Given the description of an element on the screen output the (x, y) to click on. 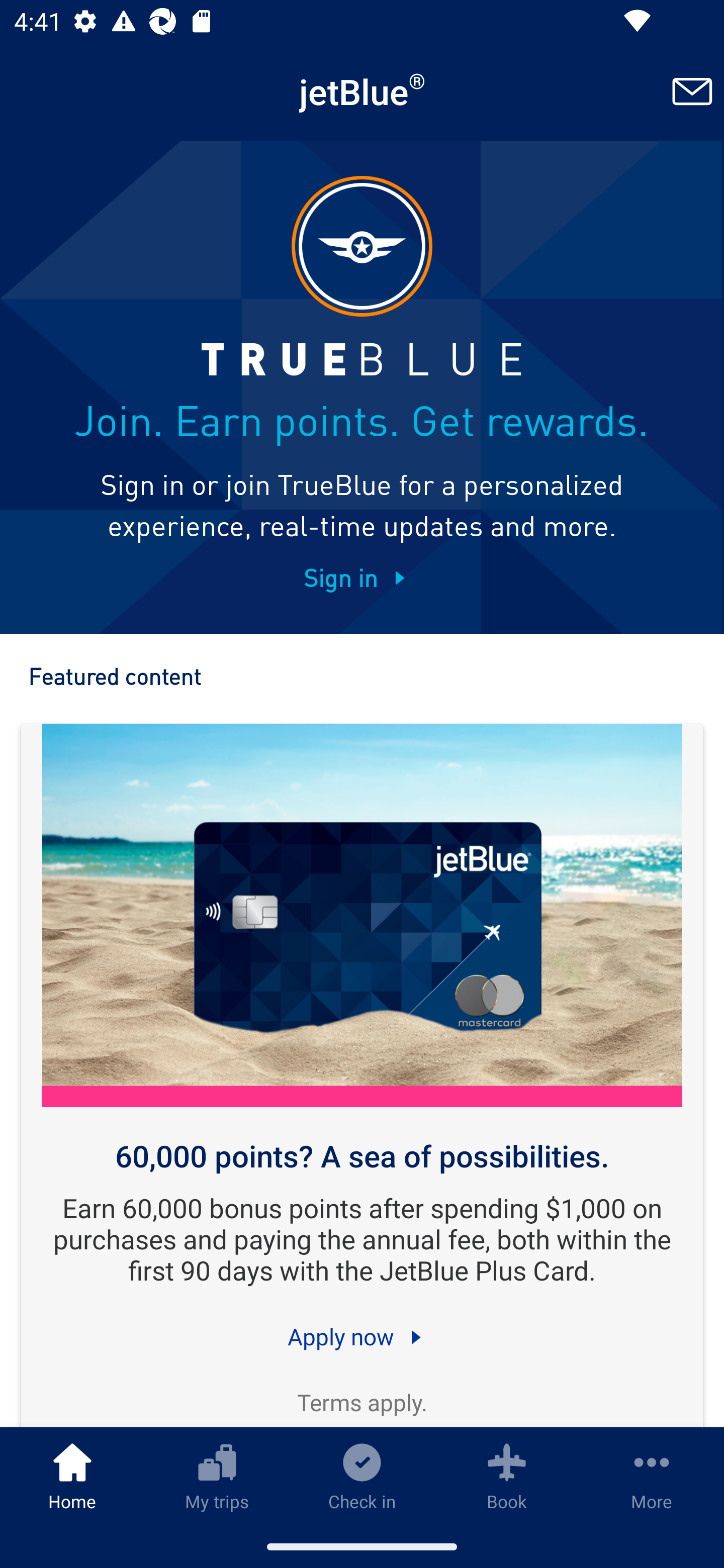
Apply now (361, 1336)
My trips (216, 1475)
Check in (361, 1475)
Book (506, 1475)
More (651, 1475)
